Given the description of an element on the screen output the (x, y) to click on. 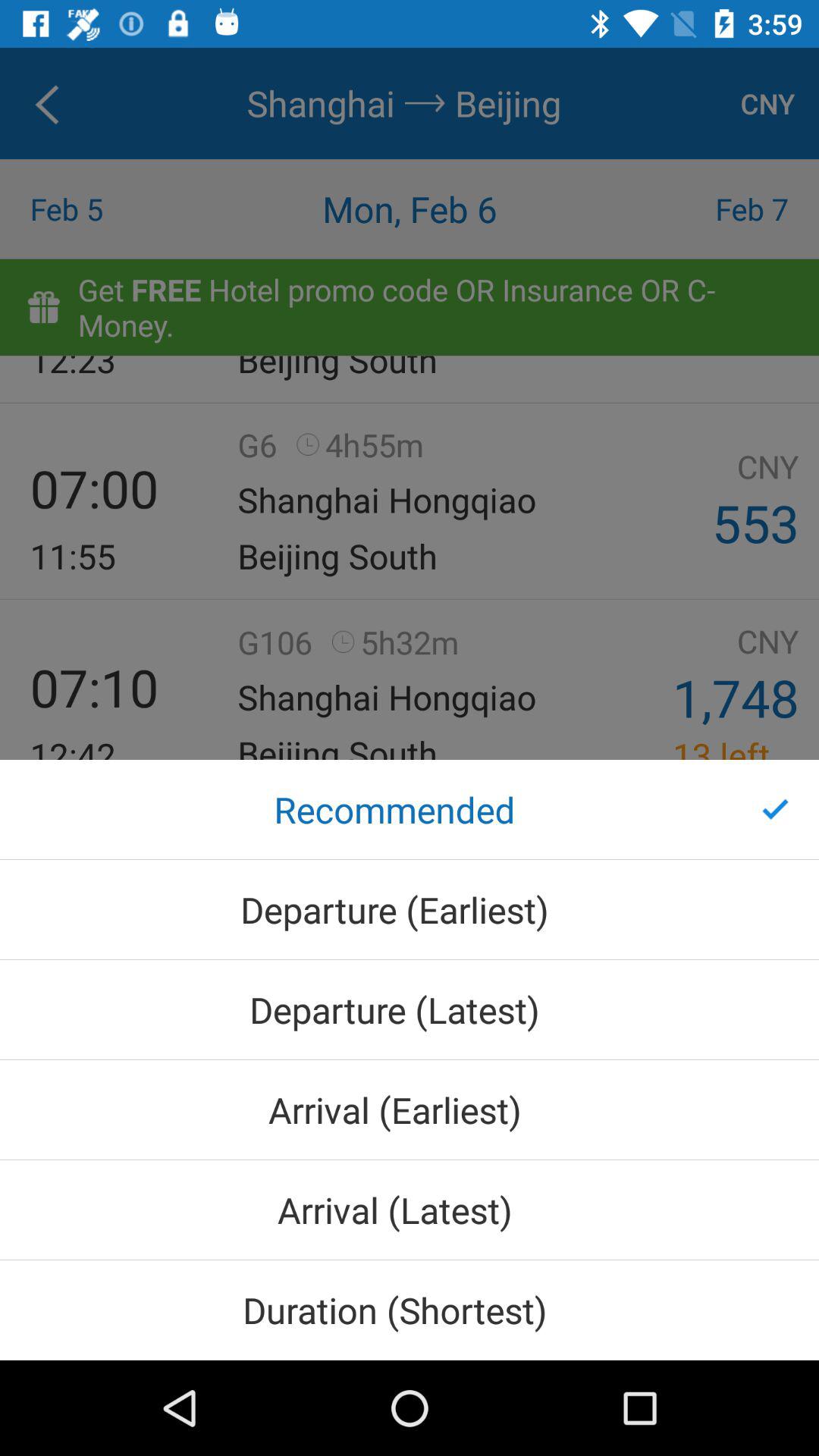
choose item below the recommended (409, 909)
